Given the description of an element on the screen output the (x, y) to click on. 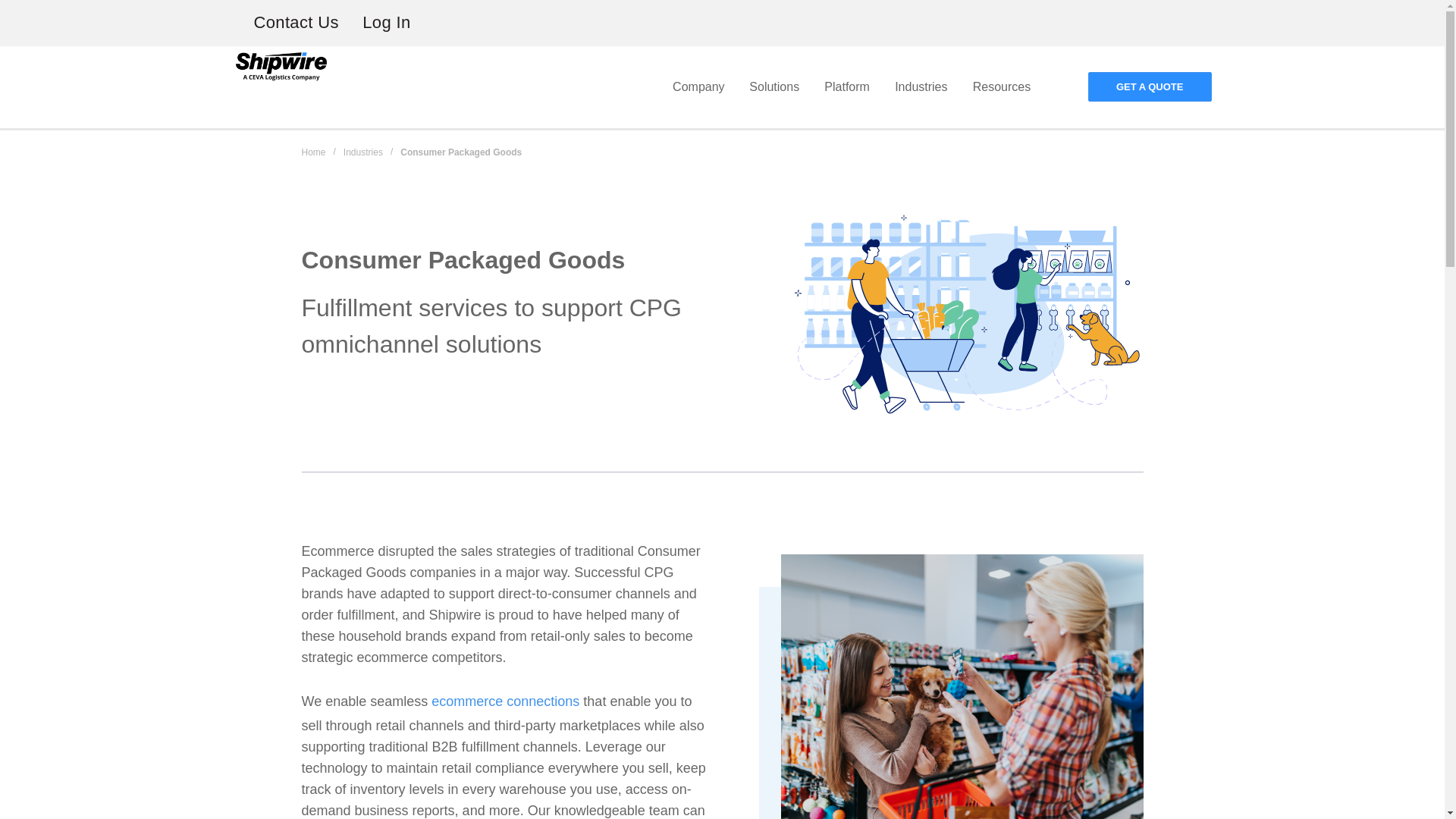
Industries (921, 87)
Platform (847, 87)
Resources (1001, 87)
Company (698, 87)
Solutions (774, 87)
Solutions (774, 87)
Platform (847, 87)
Company (698, 87)
GET A QUOTE (1149, 86)
Resources (1001, 87)
Log In (386, 22)
Contact Us (295, 22)
Industries (921, 87)
